Given the description of an element on the screen output the (x, y) to click on. 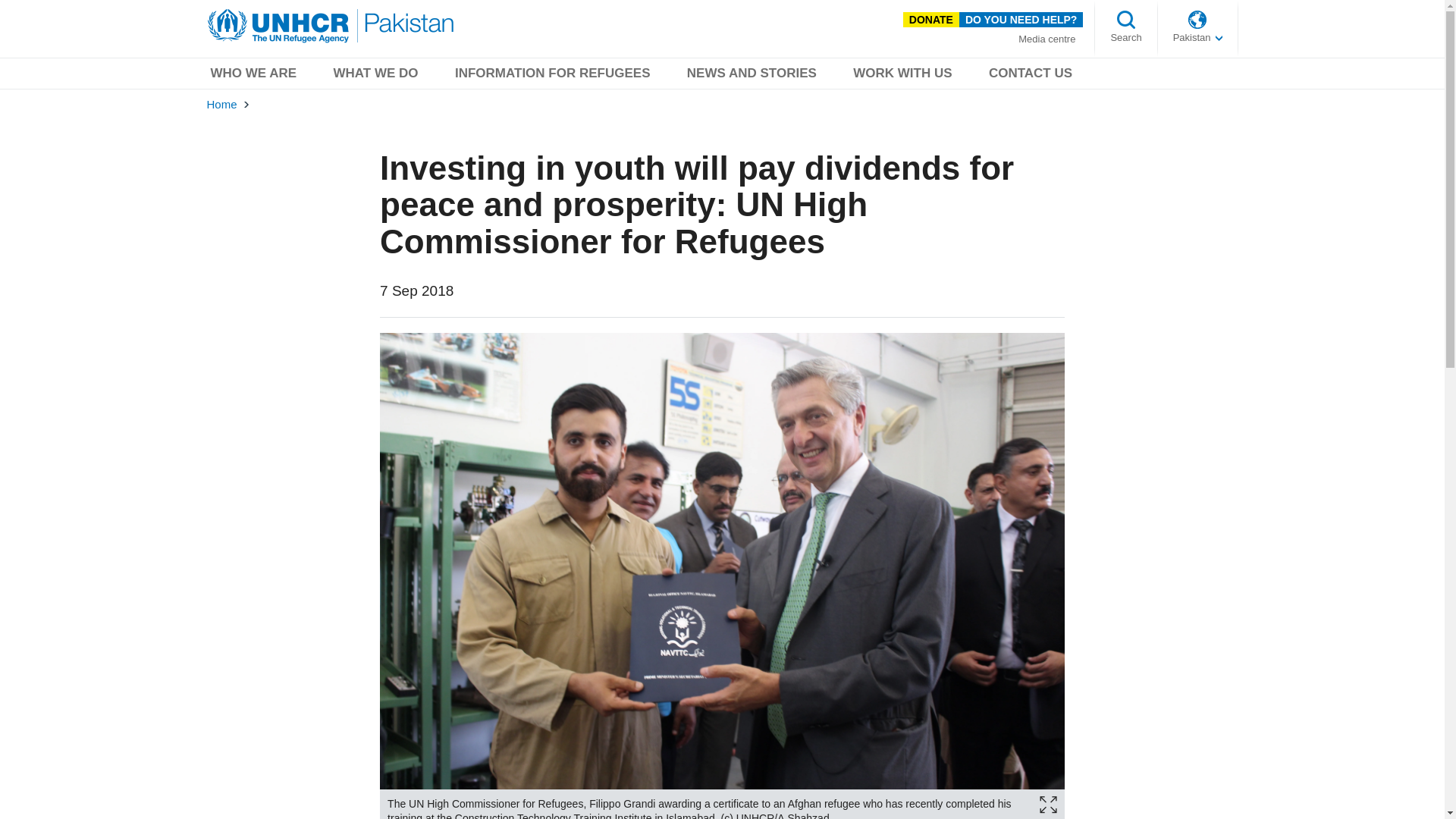
UNHCR International (1198, 38)
WHO WE ARE (252, 76)
DO YOU NEED HELP? (1021, 19)
Donate (930, 19)
INFORMATION FOR REFUGEES (552, 76)
DONATE (930, 19)
Media centre (1046, 38)
WORK WITH US (901, 76)
UNHCR Pakistan (331, 25)
WHAT WE DO (376, 76)
